Given the description of an element on the screen output the (x, y) to click on. 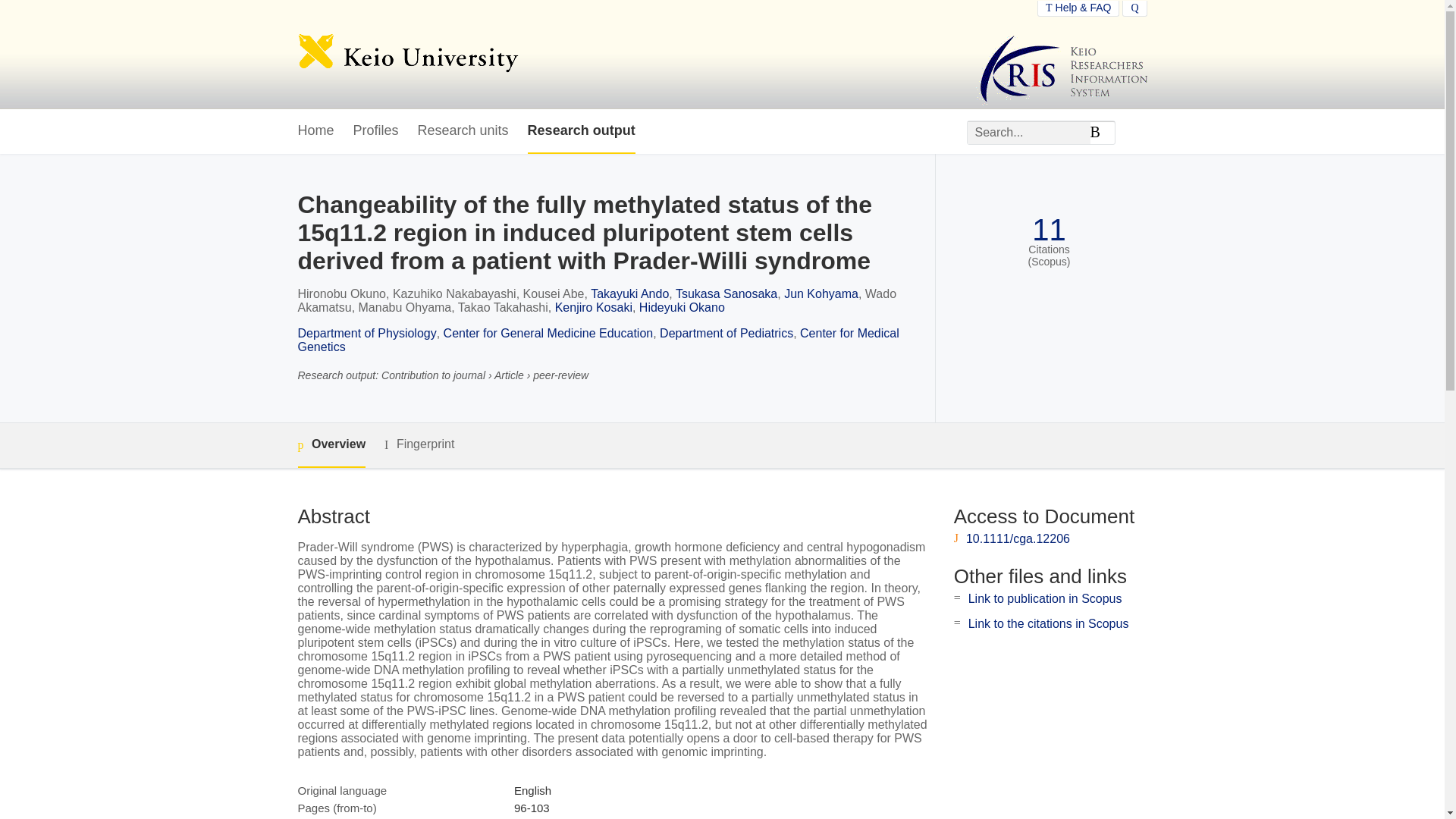
Department of Physiology (366, 332)
Fingerprint (419, 444)
Overview (331, 445)
Hideyuki Okano (682, 307)
Kenjiro Kosaki (592, 307)
Center for General Medicine Education (548, 332)
Department of Pediatrics (726, 332)
Keio University Home (407, 54)
Jun Kohyama (821, 293)
